Given the description of an element on the screen output the (x, y) to click on. 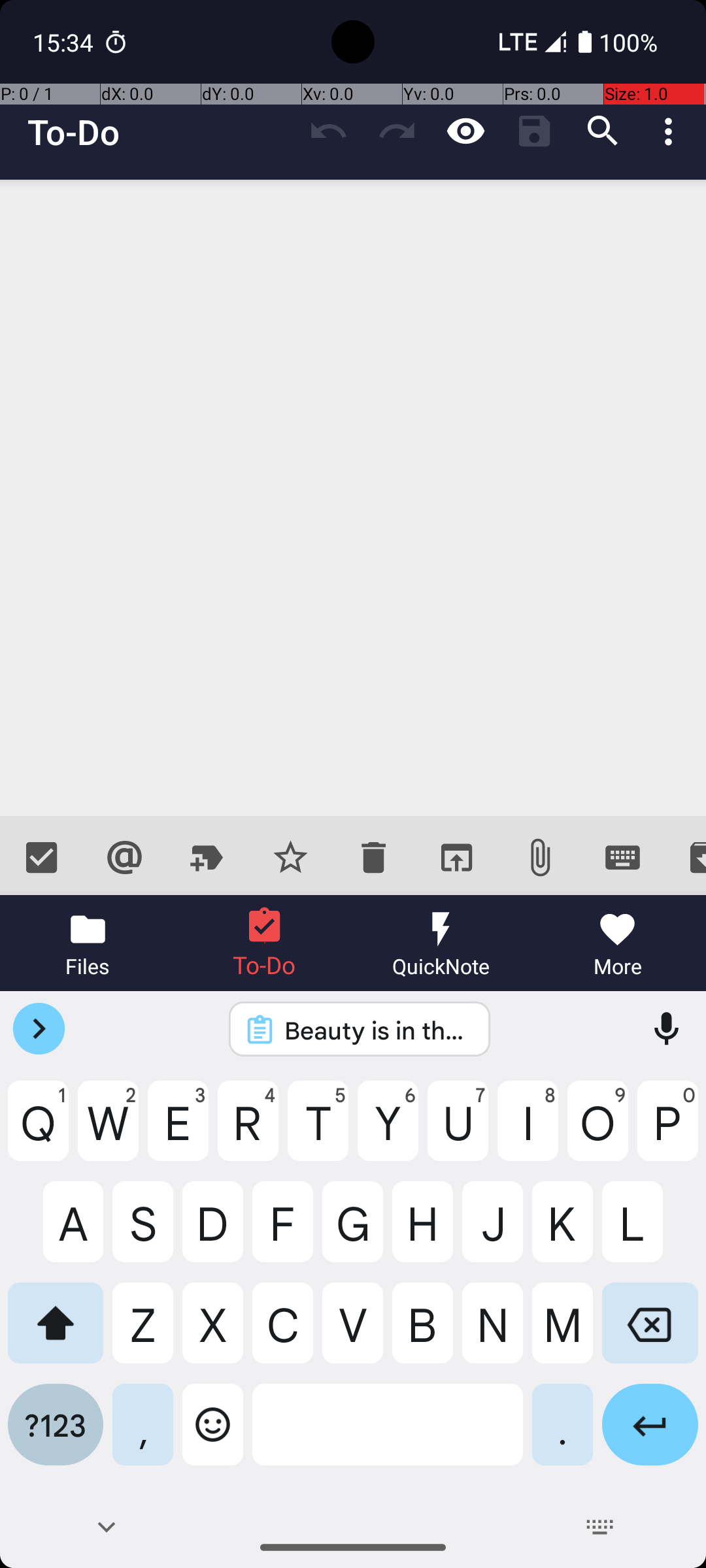
Beauty is in the eye of the beholder. Element type: android.widget.TextView (376, 1029)
